Given the description of an element on the screen output the (x, y) to click on. 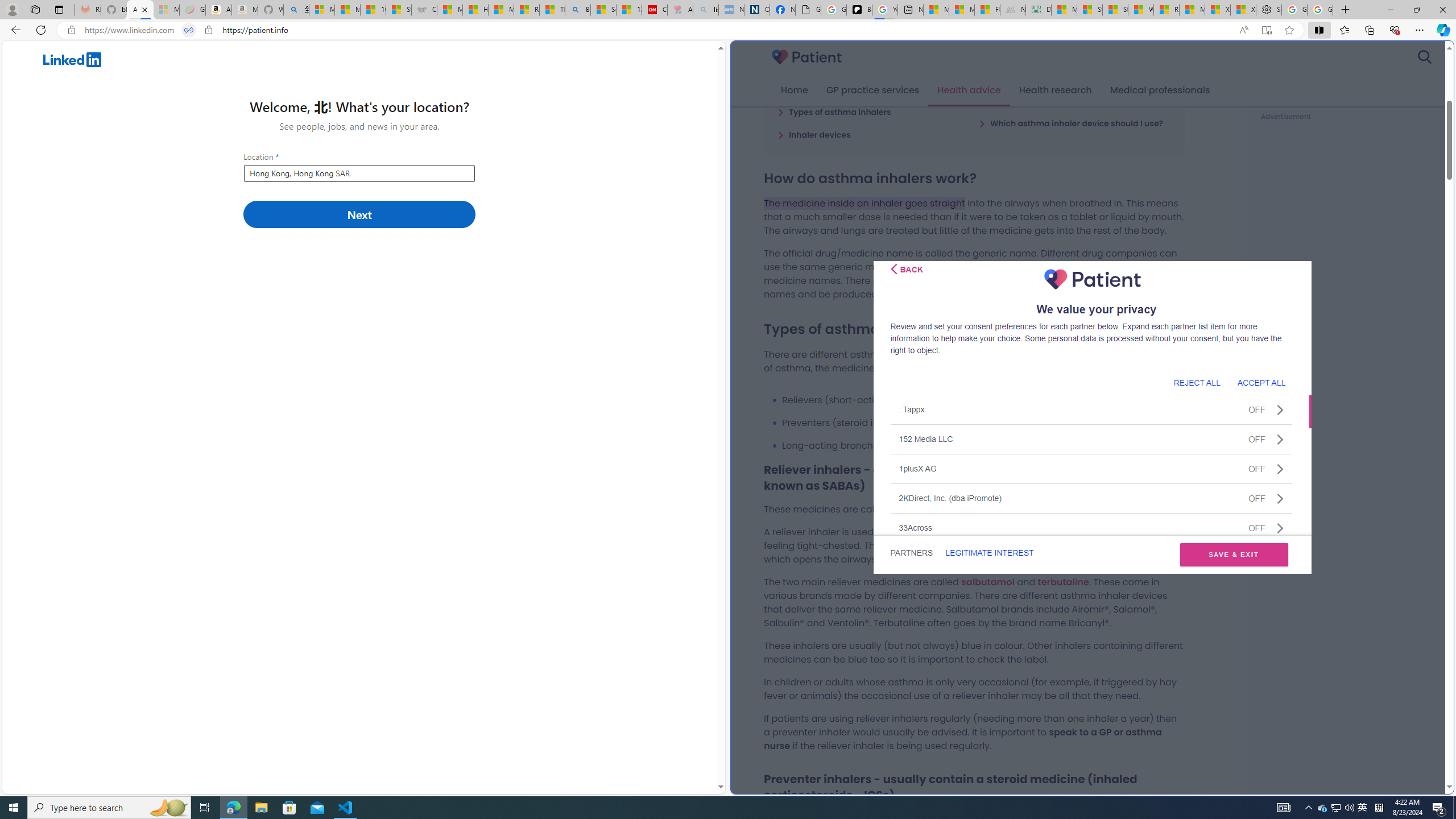
Publisher Logo (1092, 278)
Patient 3.0 (807, 56)
Be Smart | creating Science videos | Patreon (858, 9)
REJECT ALL (1196, 382)
2KDirect, Inc. (dba iPromote)OFF (1090, 498)
LEGITIMATE INTEREST (988, 552)
Long-acting bronchodilators. (983, 445)
Which asthma inhaler device should I use? (1070, 123)
